Given the description of an element on the screen output the (x, y) to click on. 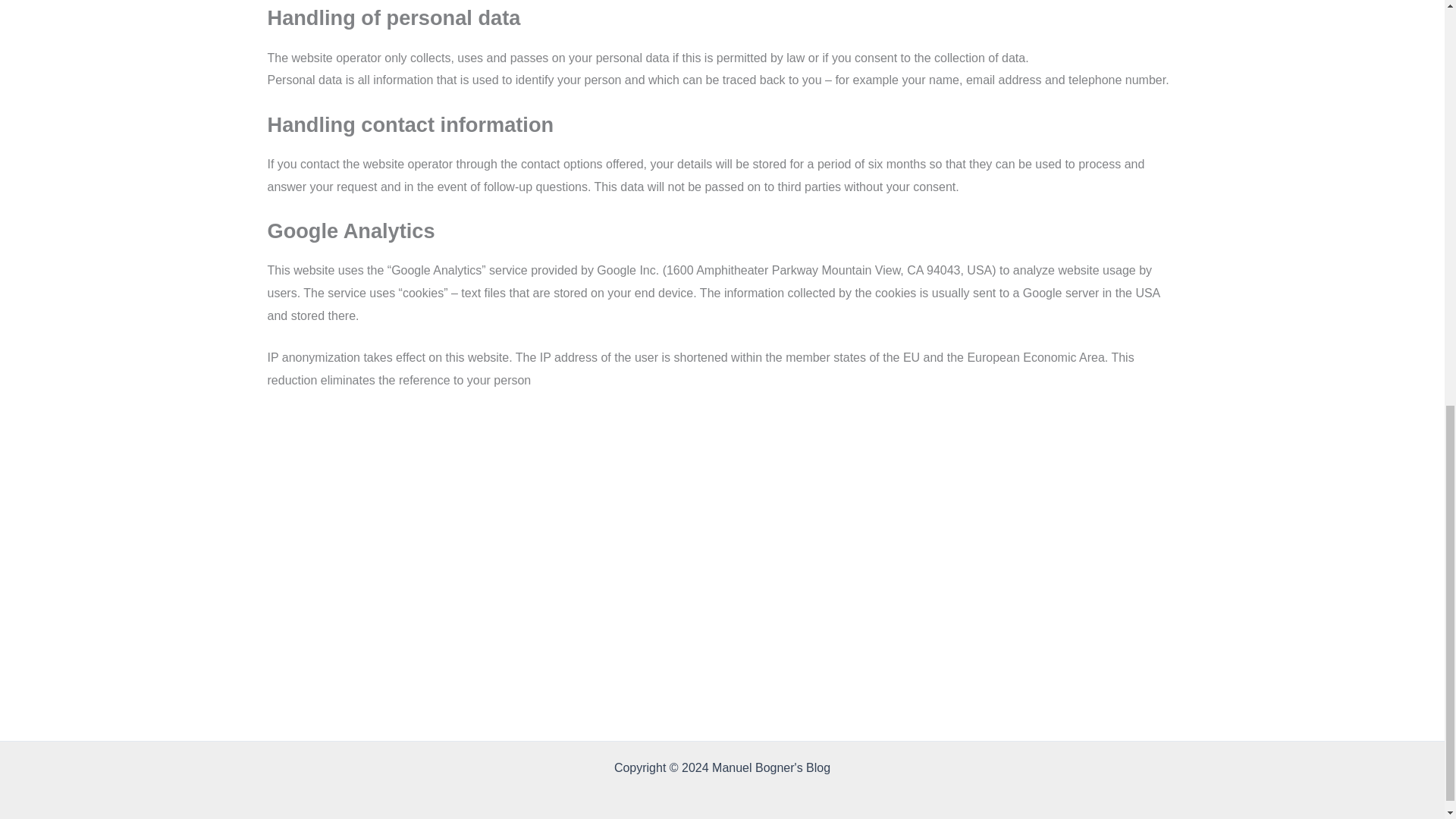
Advertisement (721, 479)
